Given the description of an element on the screen output the (x, y) to click on. 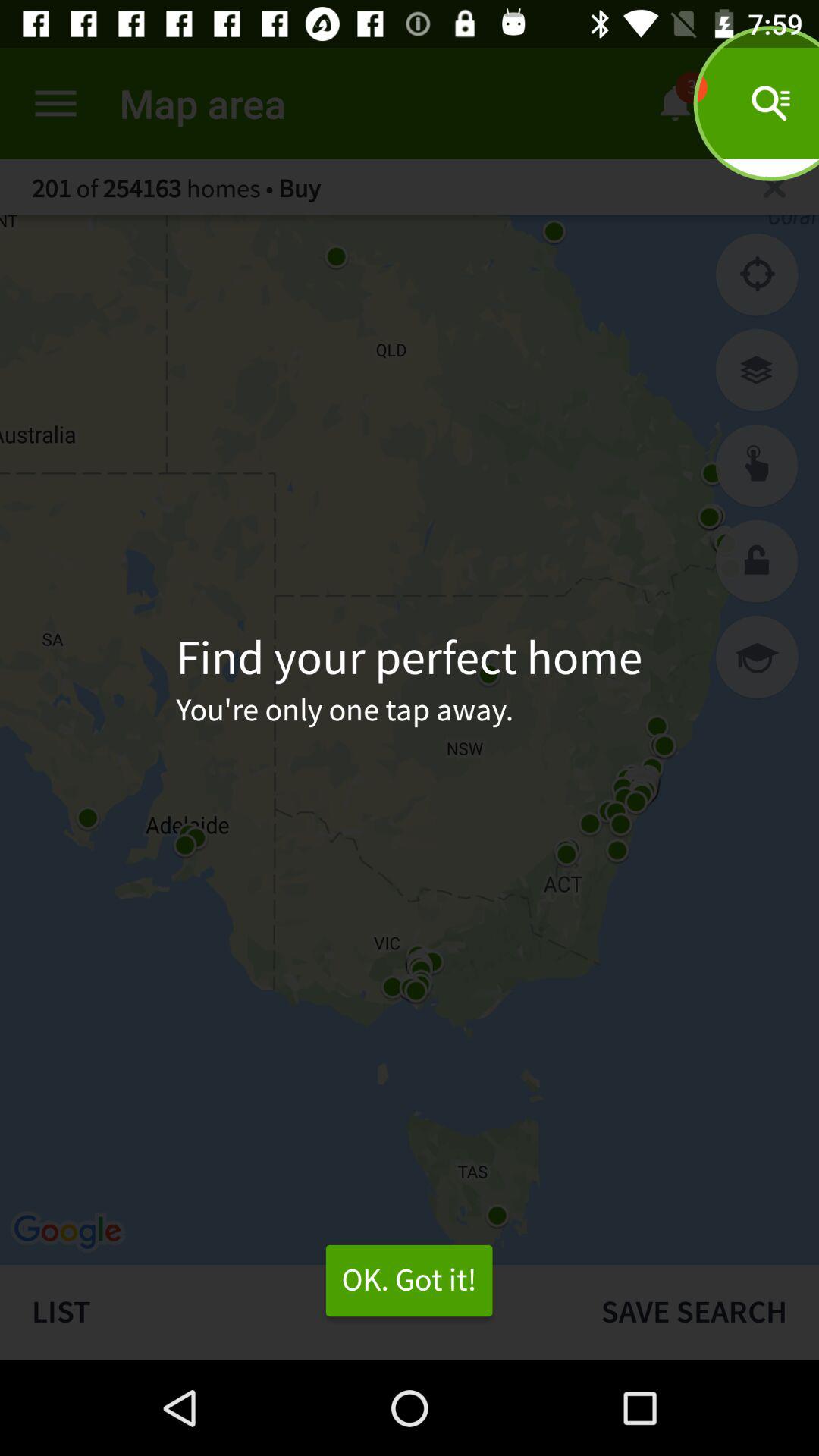
select area button (756, 465)
